Given the description of an element on the screen output the (x, y) to click on. 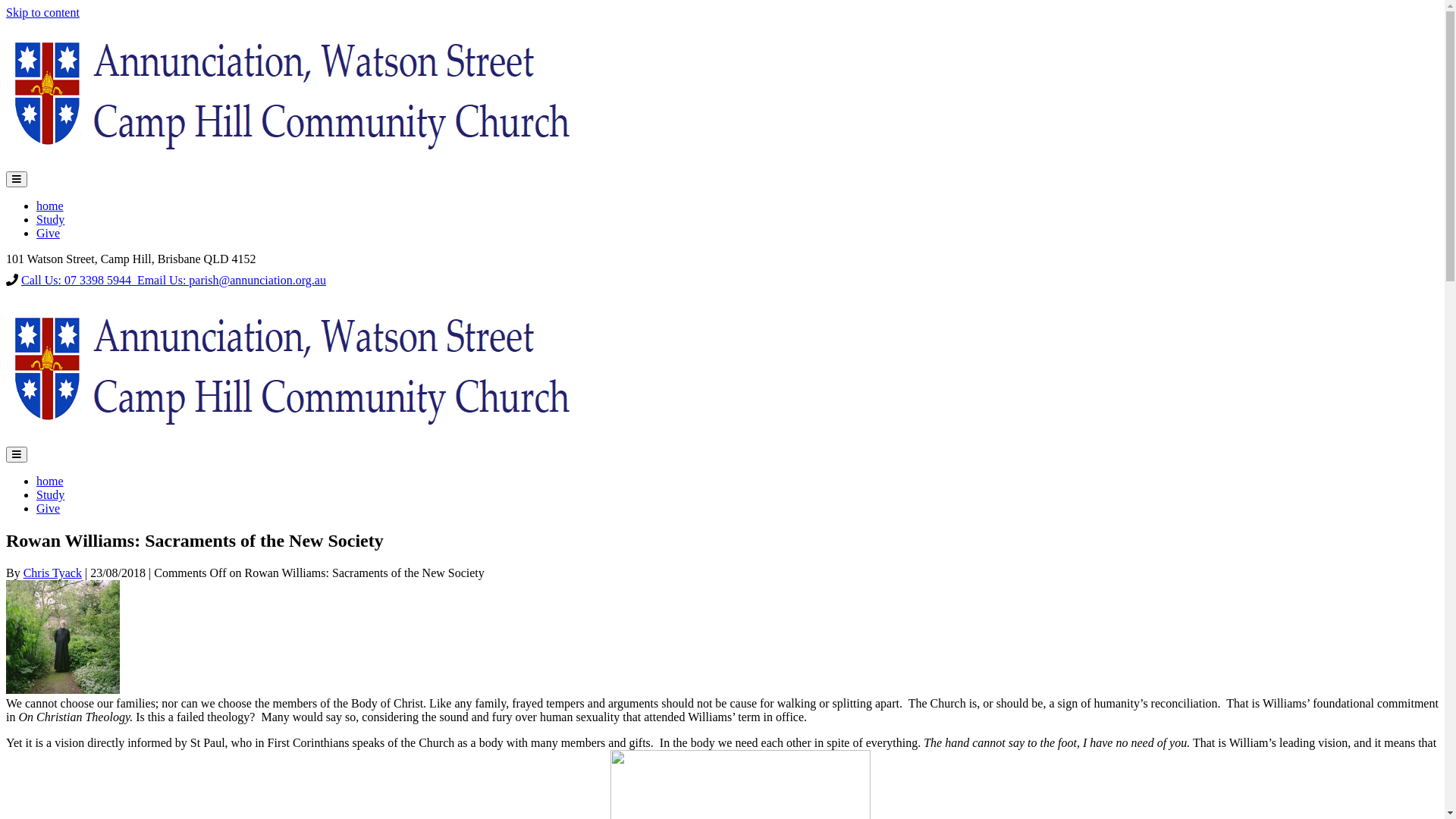
Study Element type: text (50, 494)
Menu Element type: text (16, 179)
Menu Element type: text (16, 454)
Study Element type: text (50, 219)
Give Element type: text (47, 232)
Rowan Williams: Sacraments of the New Society Element type: hover (62, 689)
home Element type: text (49, 205)
Email Us: parish@annunciation.org.au Element type: text (230, 279)
home Element type: text (49, 480)
Give Element type: text (47, 508)
Chris Tyack Element type: text (52, 572)
Skip to content Element type: text (42, 12)
Call Us: 07 3398 5944 Element type: text (77, 279)
